Given the description of an element on the screen output the (x, y) to click on. 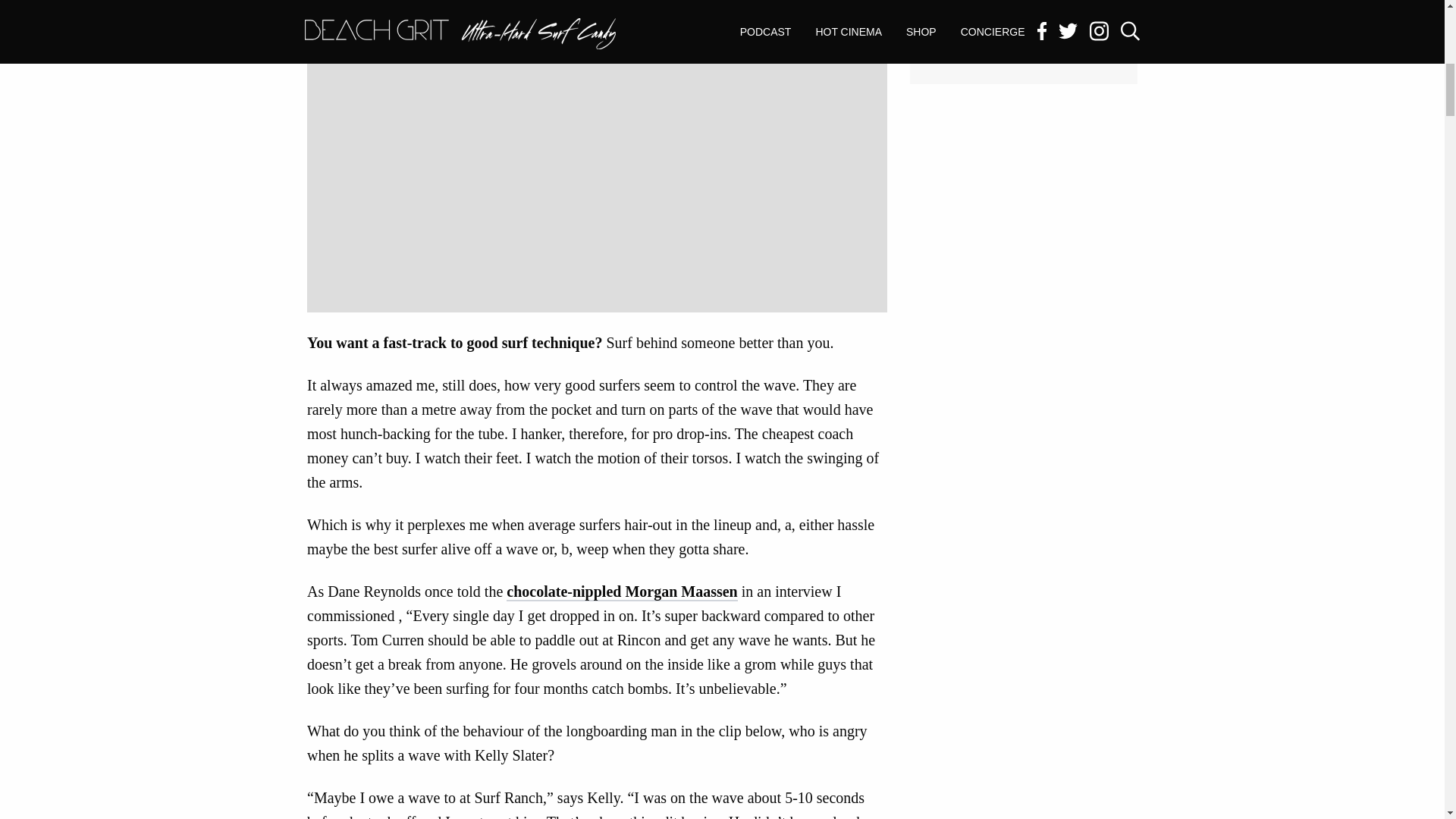
chocolate-nippled Morgan Maassen (621, 592)
